Given the description of an element on the screen output the (x, y) to click on. 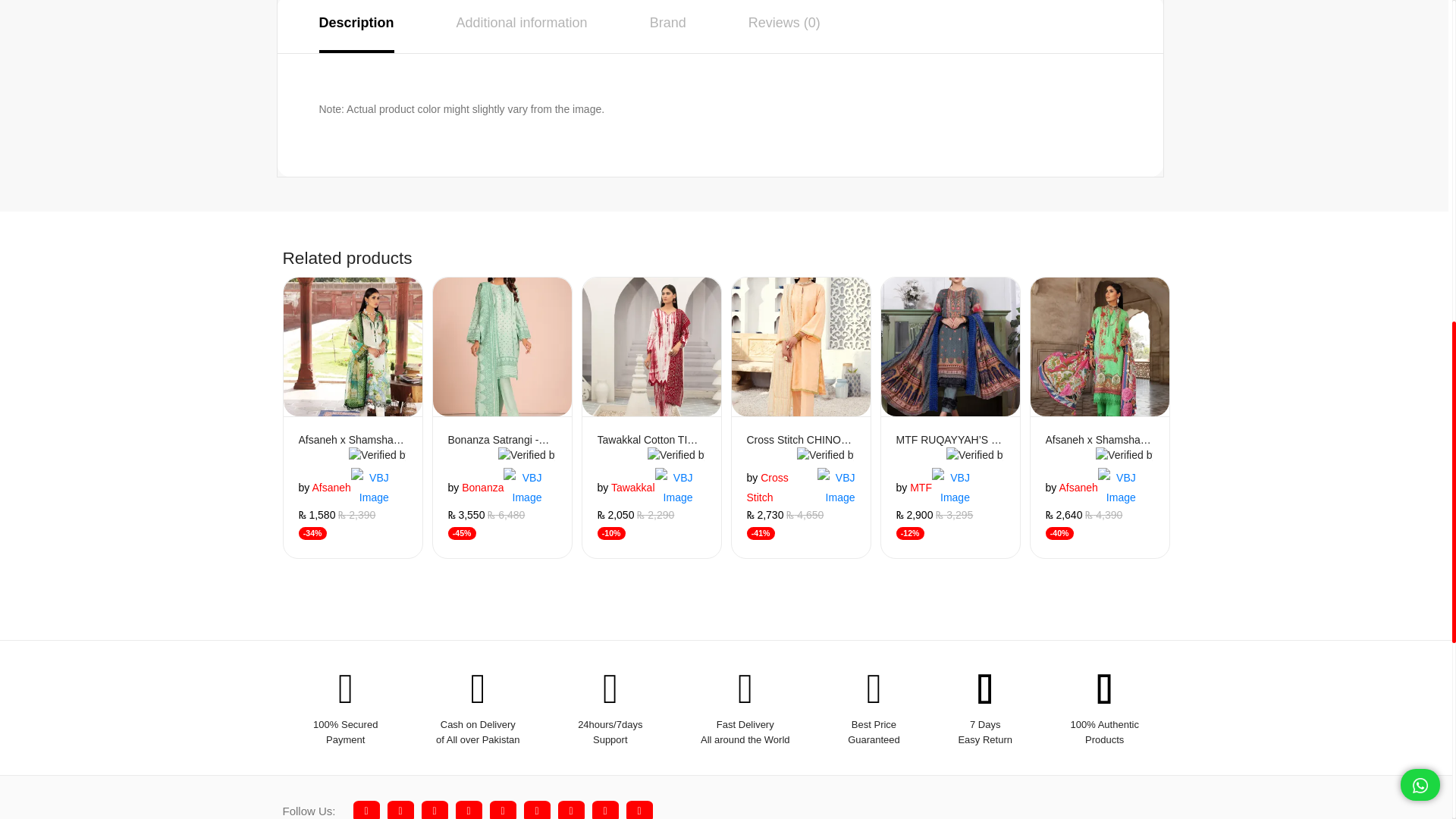
Get exactly what you ordered! (522, 486)
Get exactly what you ordered! (369, 486)
Get exactly what you ordered! (525, 454)
Get exactly what you ordered! (377, 454)
